Given the description of an element on the screen output the (x, y) to click on. 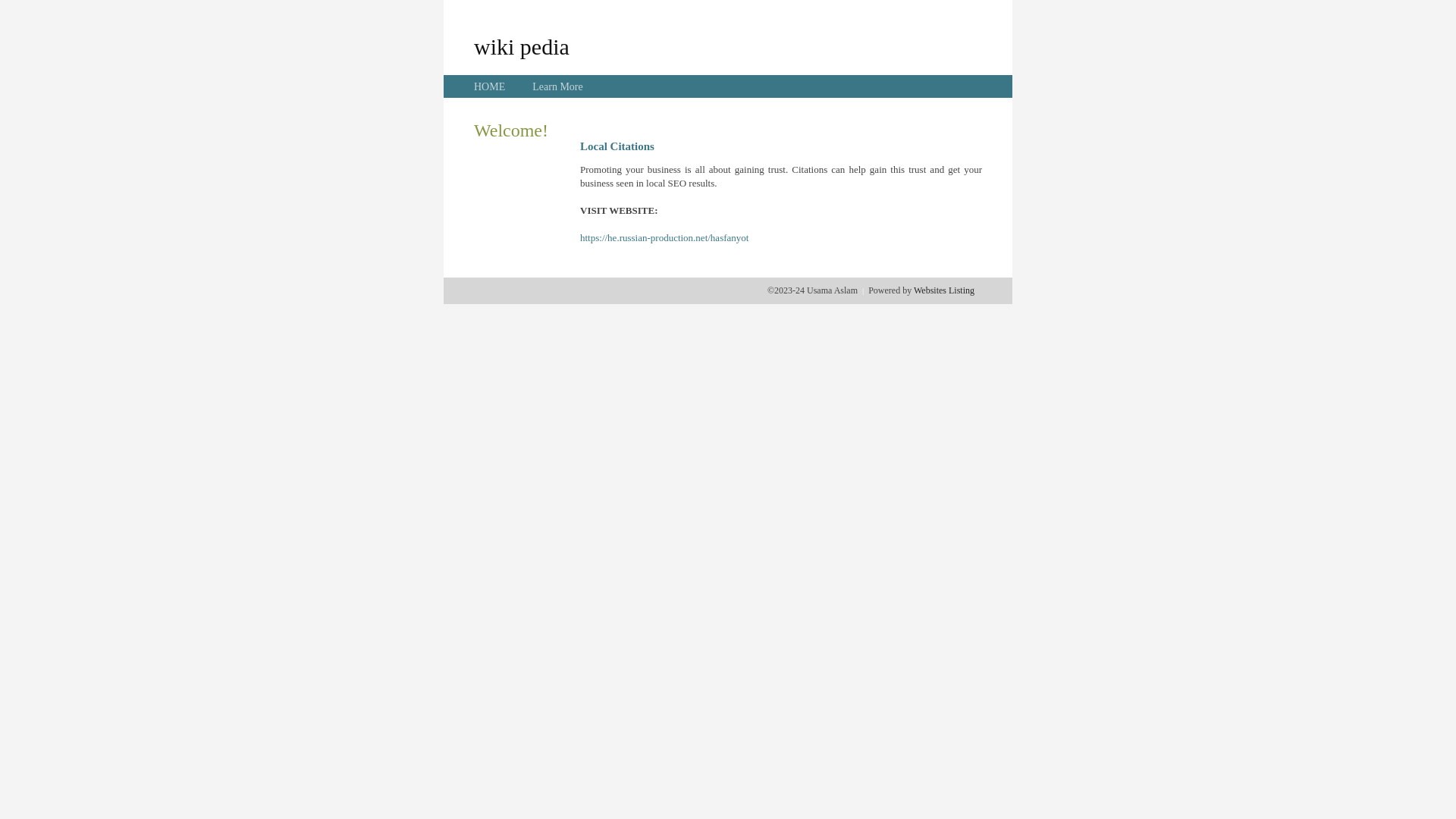
HOME Element type: text (489, 86)
Learn More Element type: text (557, 86)
Websites Listing Element type: text (943, 290)
https://he.russian-production.net/hasfanyot Element type: text (664, 237)
wiki pedia Element type: text (521, 46)
